Given the description of an element on the screen output the (x, y) to click on. 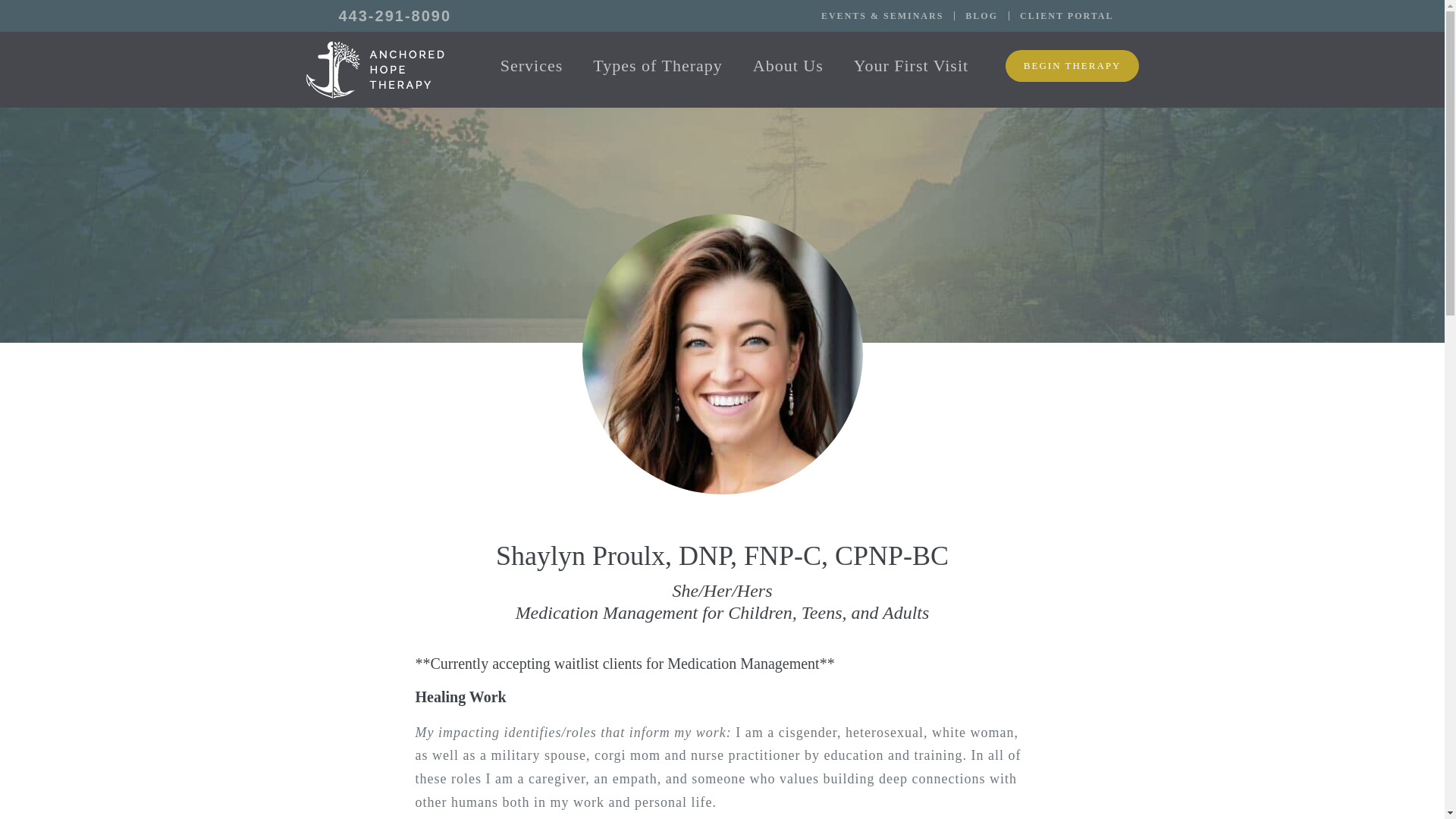
logo (374, 65)
